Given the description of an element on the screen output the (x, y) to click on. 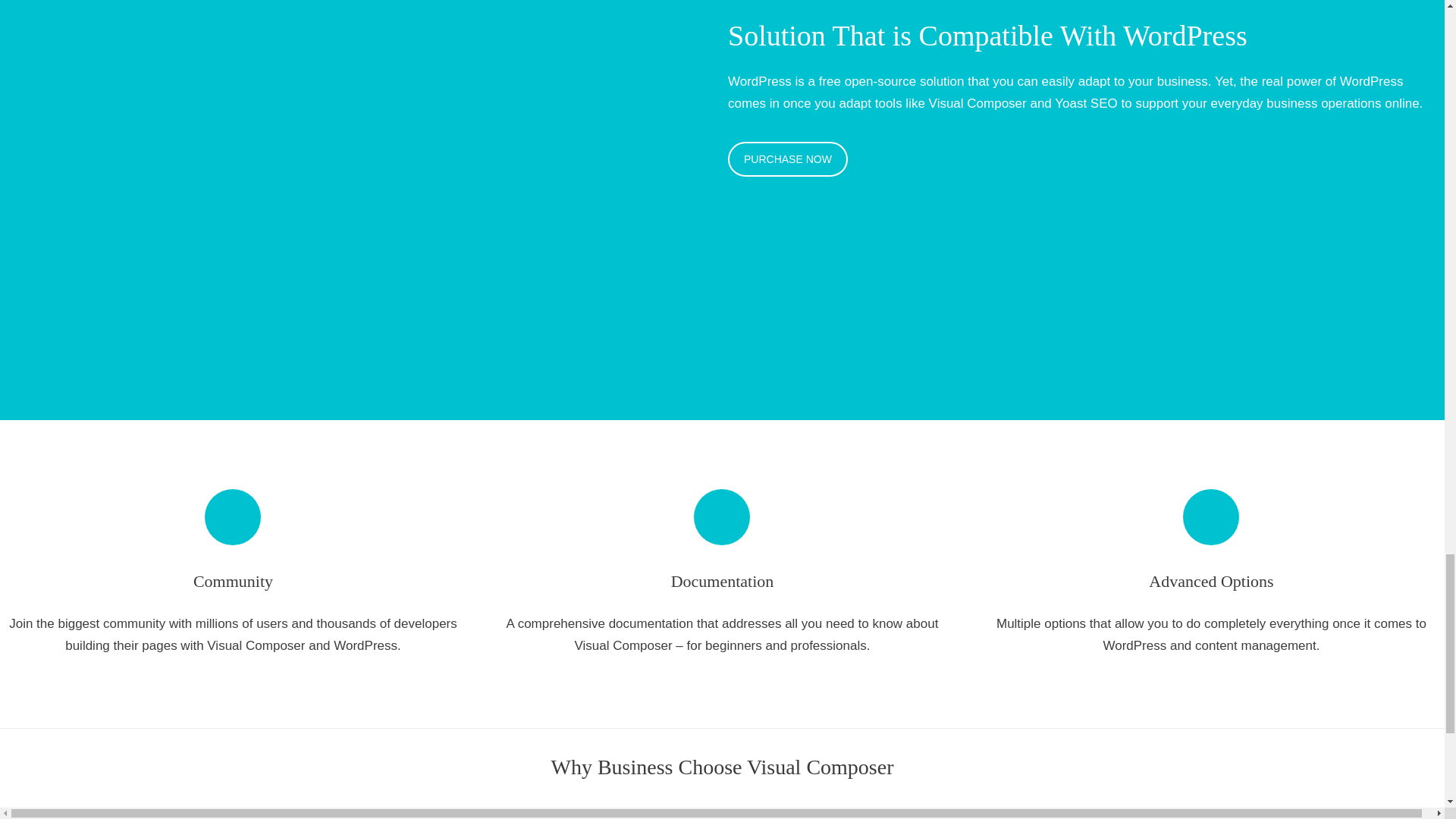
PURCHASE NOW (787, 158)
